Given the description of an element on the screen output the (x, y) to click on. 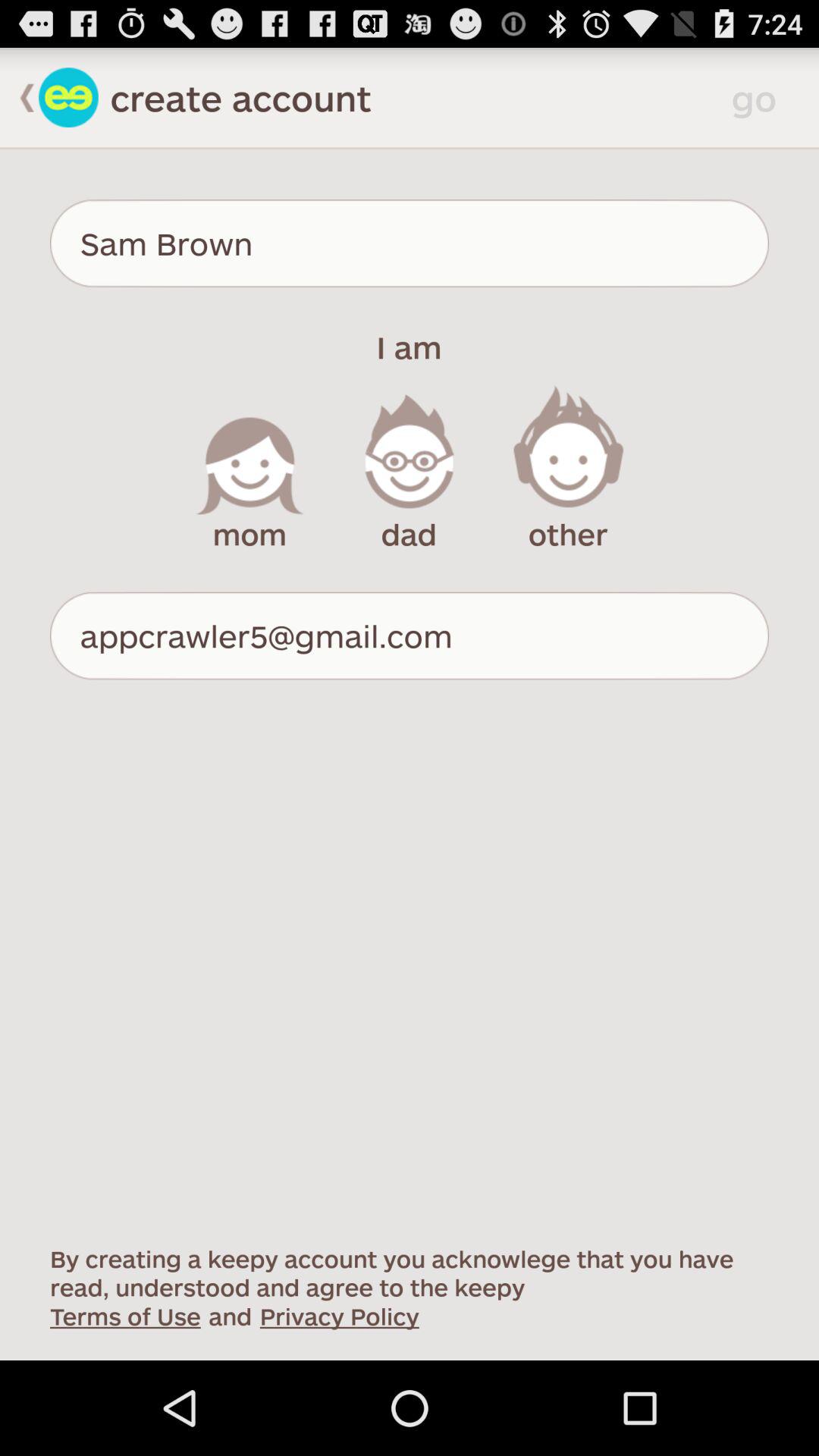
click go button (759, 97)
click on dad (409, 468)
select the text privacy policy (339, 1315)
select the text terms of use (124, 1315)
click on the first text field (409, 242)
